Given the description of an element on the screen output the (x, y) to click on. 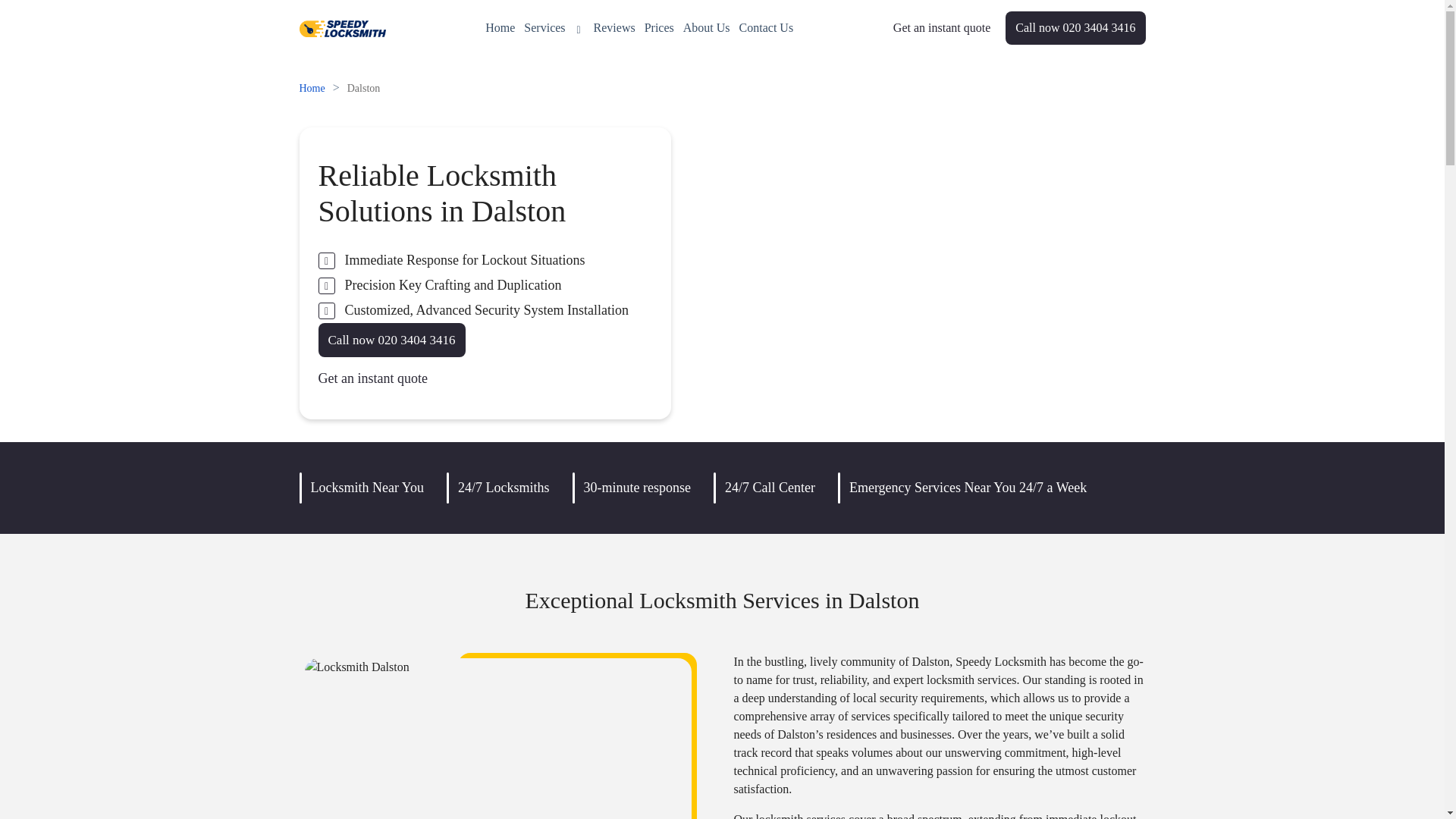
Get an instant quote (941, 27)
Call now 020 3404 3416 (1075, 28)
Reviews (614, 27)
Get an instant quote (941, 27)
Prices (659, 27)
Services (553, 27)
Get an instant quote (373, 378)
Call Speedy Locksmiths on 020 3404 3416 (391, 339)
Get an instant quote (373, 378)
Contact Us (766, 27)
